Given the description of an element on the screen output the (x, y) to click on. 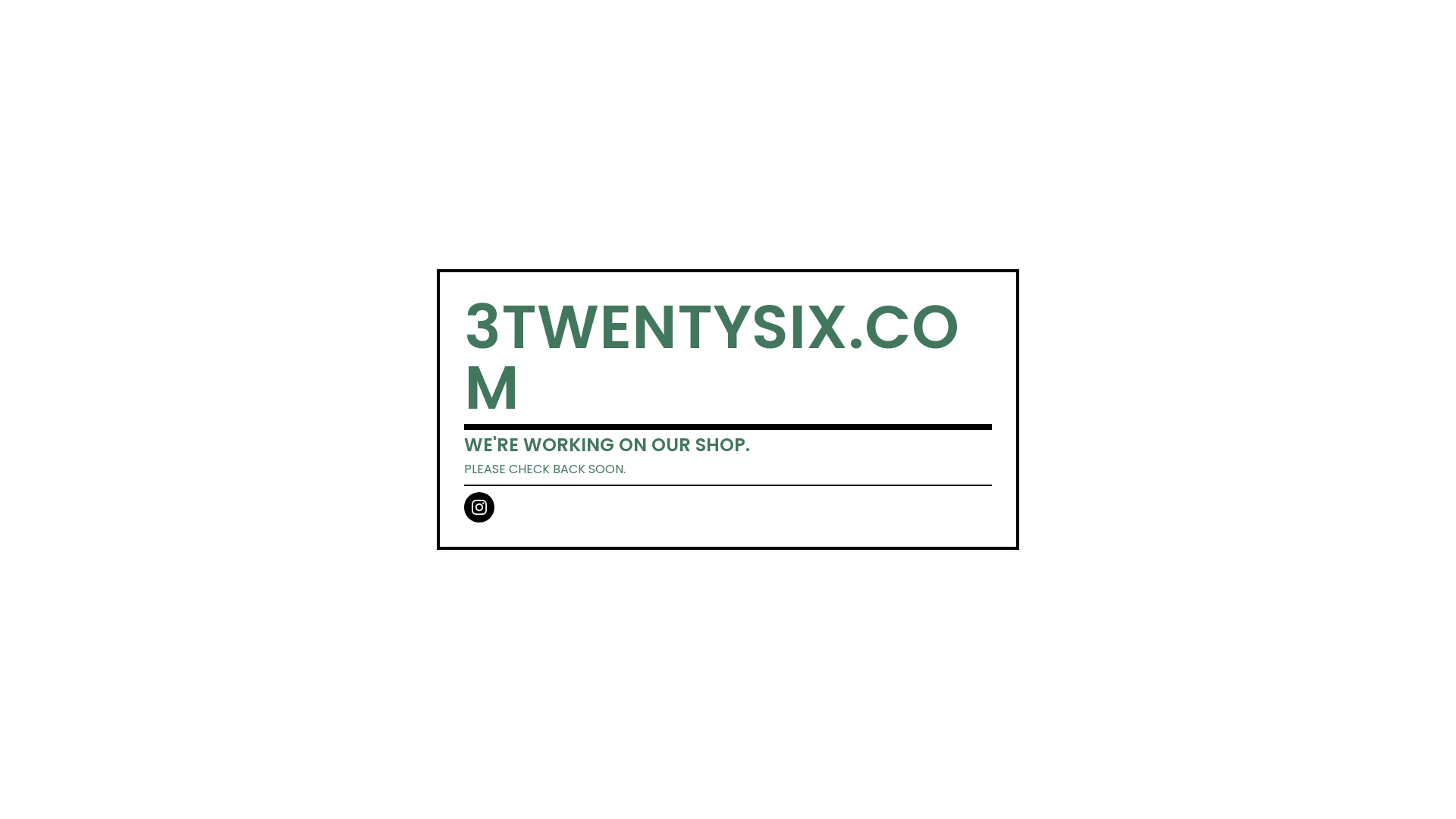
Instagram Element type: hover (479, 507)
